Given the description of an element on the screen output the (x, y) to click on. 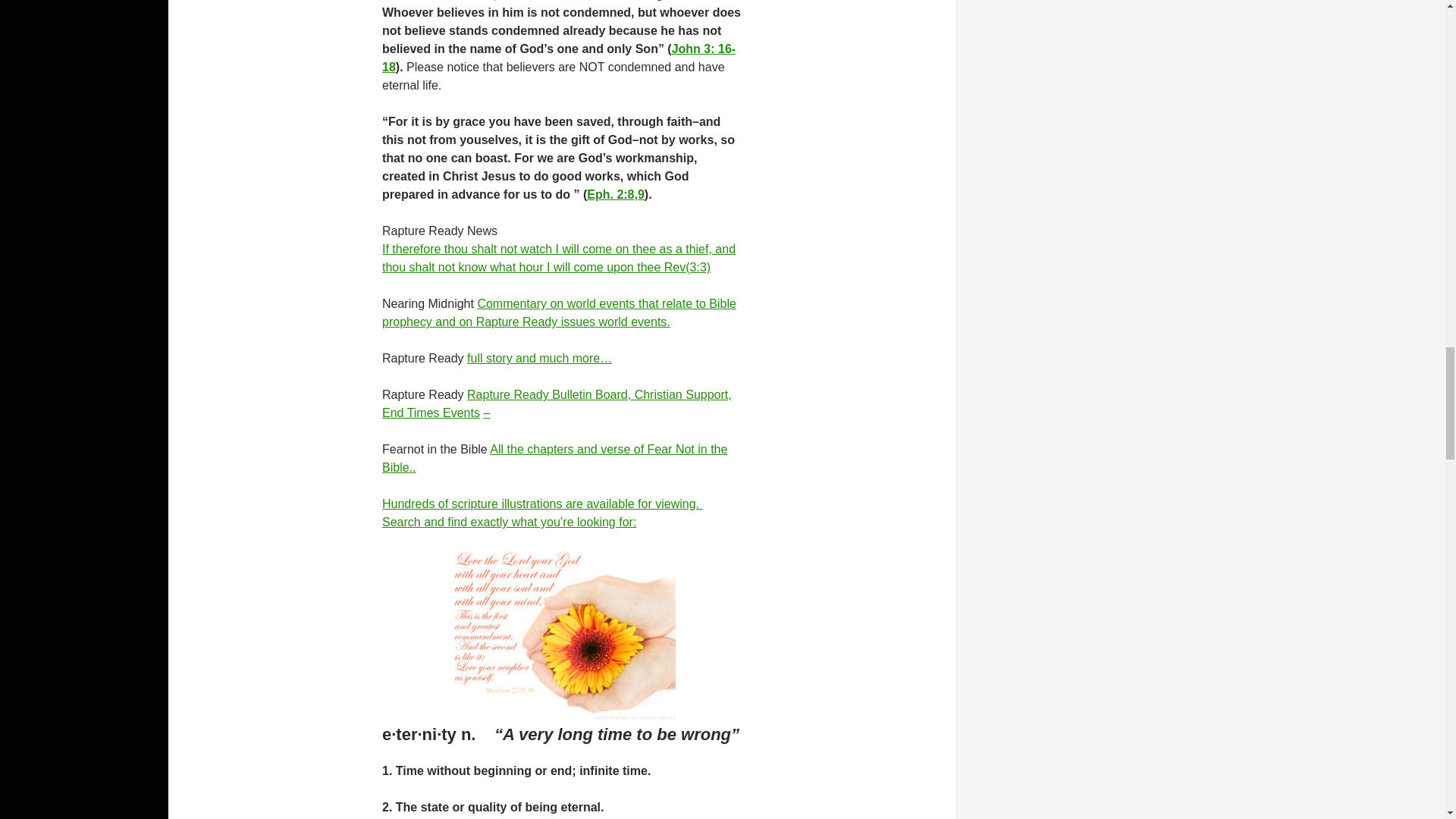
Eph. 2:8,9 (615, 194)
All the chapters and verse of Fear Not in the Bible.. (553, 458)
John 3: 16-18 (558, 57)
